Given the description of an element on the screen output the (x, y) to click on. 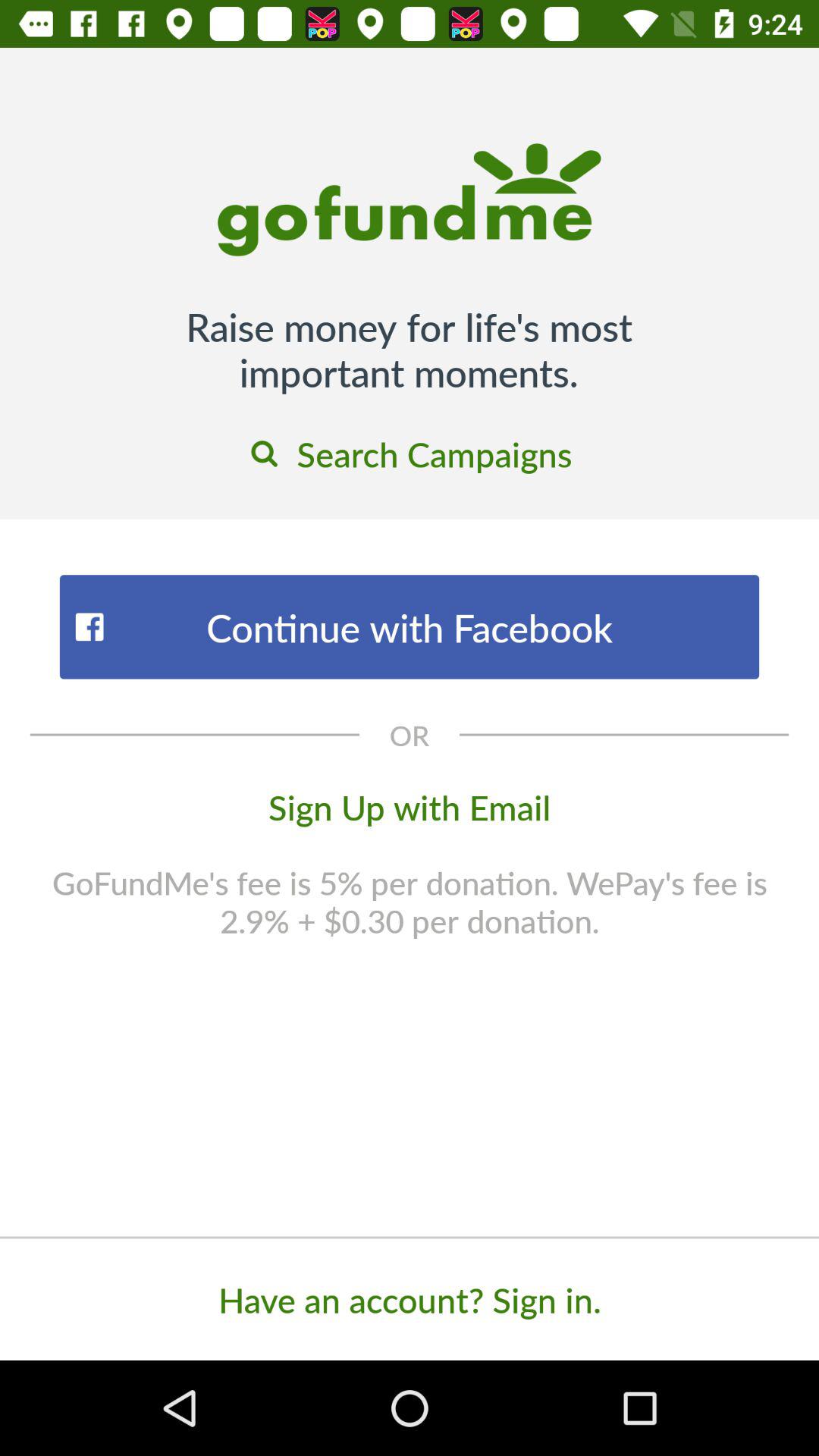
choose sign up with item (409, 806)
